Given the description of an element on the screen output the (x, y) to click on. 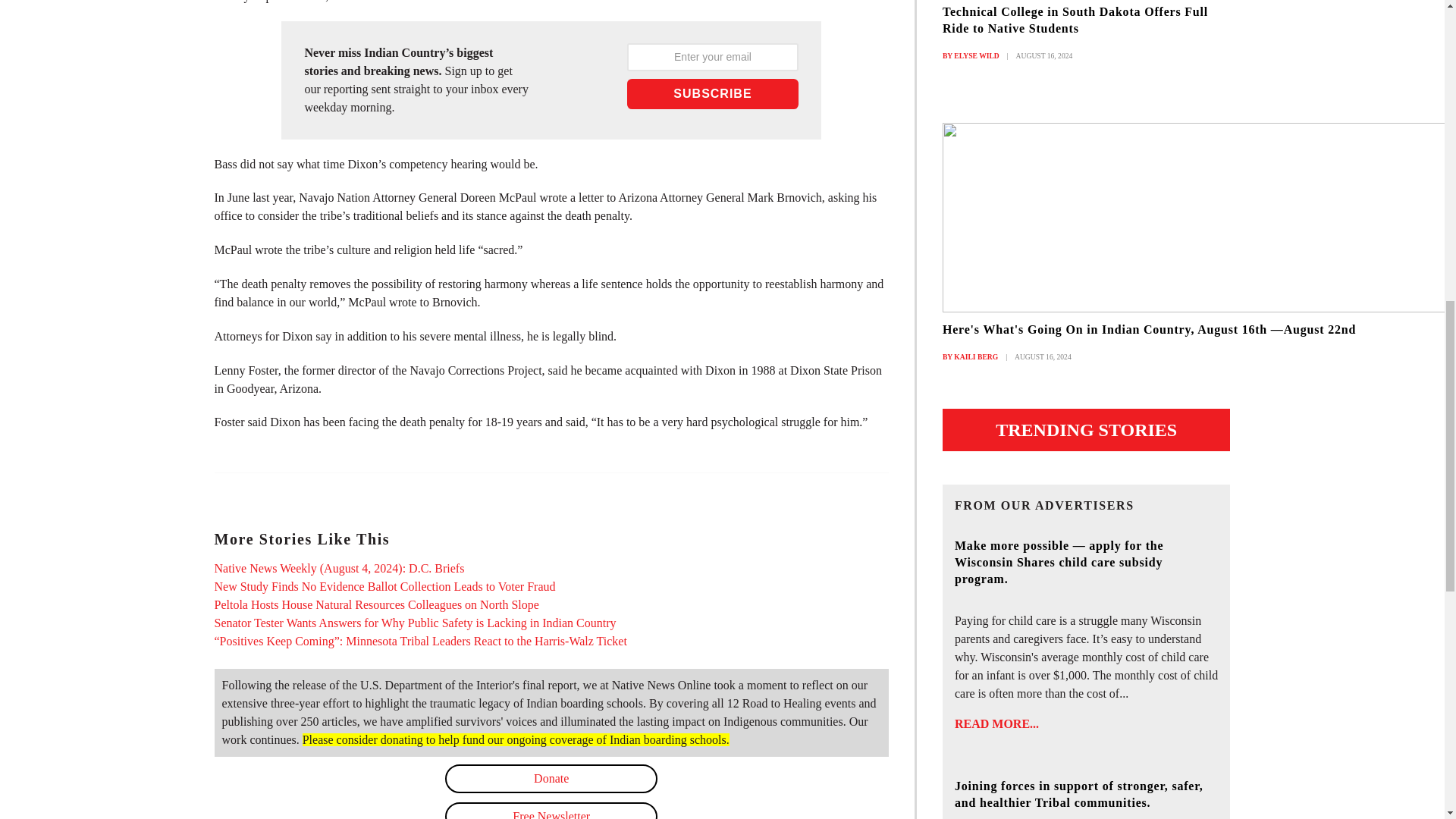
Subscribe (712, 93)
Free Newsletter (551, 810)
Donate (551, 778)
Subscribe (712, 93)
